Given the description of an element on the screen output the (x, y) to click on. 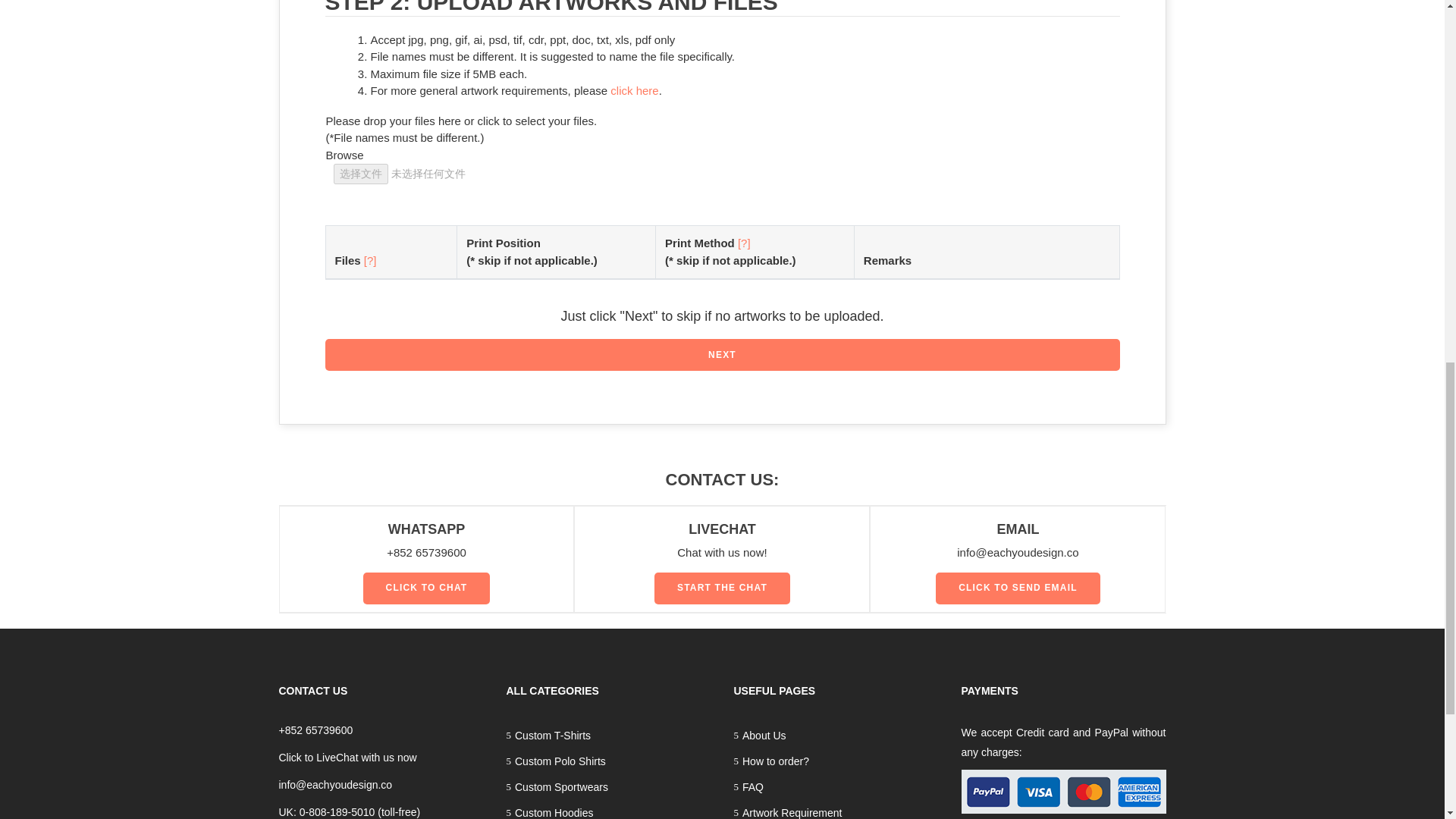
click here (634, 90)
Custom Sportwears (608, 786)
Custom Hoodies (608, 809)
Custom T-Shirts (608, 735)
CLICK TO SEND EMAIL (1018, 588)
Click to LiveChat with us now (347, 757)
CLICK TO CHAT (426, 588)
Browse (345, 154)
Next (721, 355)
Next (721, 355)
